Given the description of an element on the screen output the (x, y) to click on. 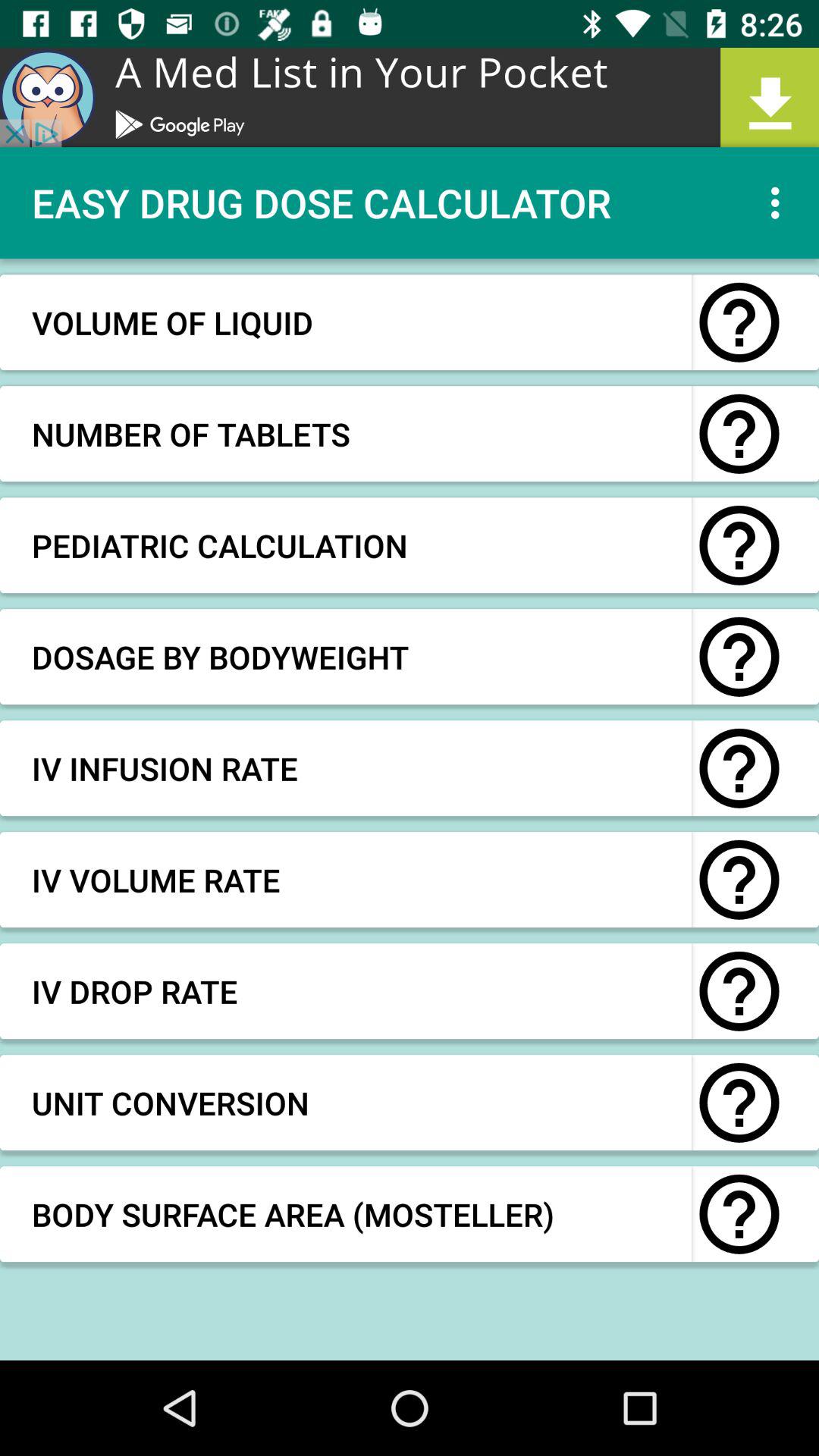
see more info (739, 322)
